Given the description of an element on the screen output the (x, y) to click on. 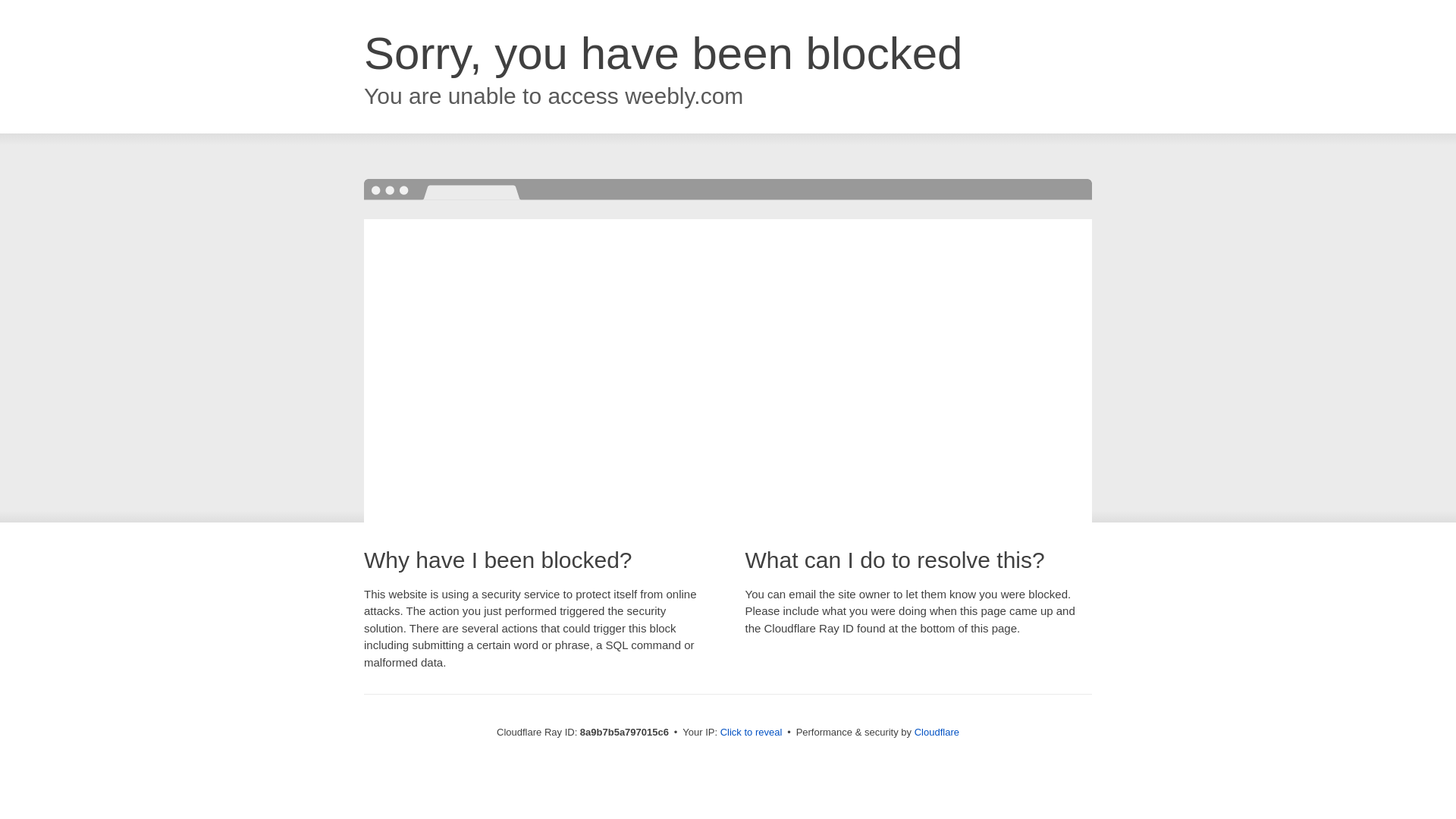
Click to reveal (751, 732)
Cloudflare (936, 731)
